Given the description of an element on the screen output the (x, y) to click on. 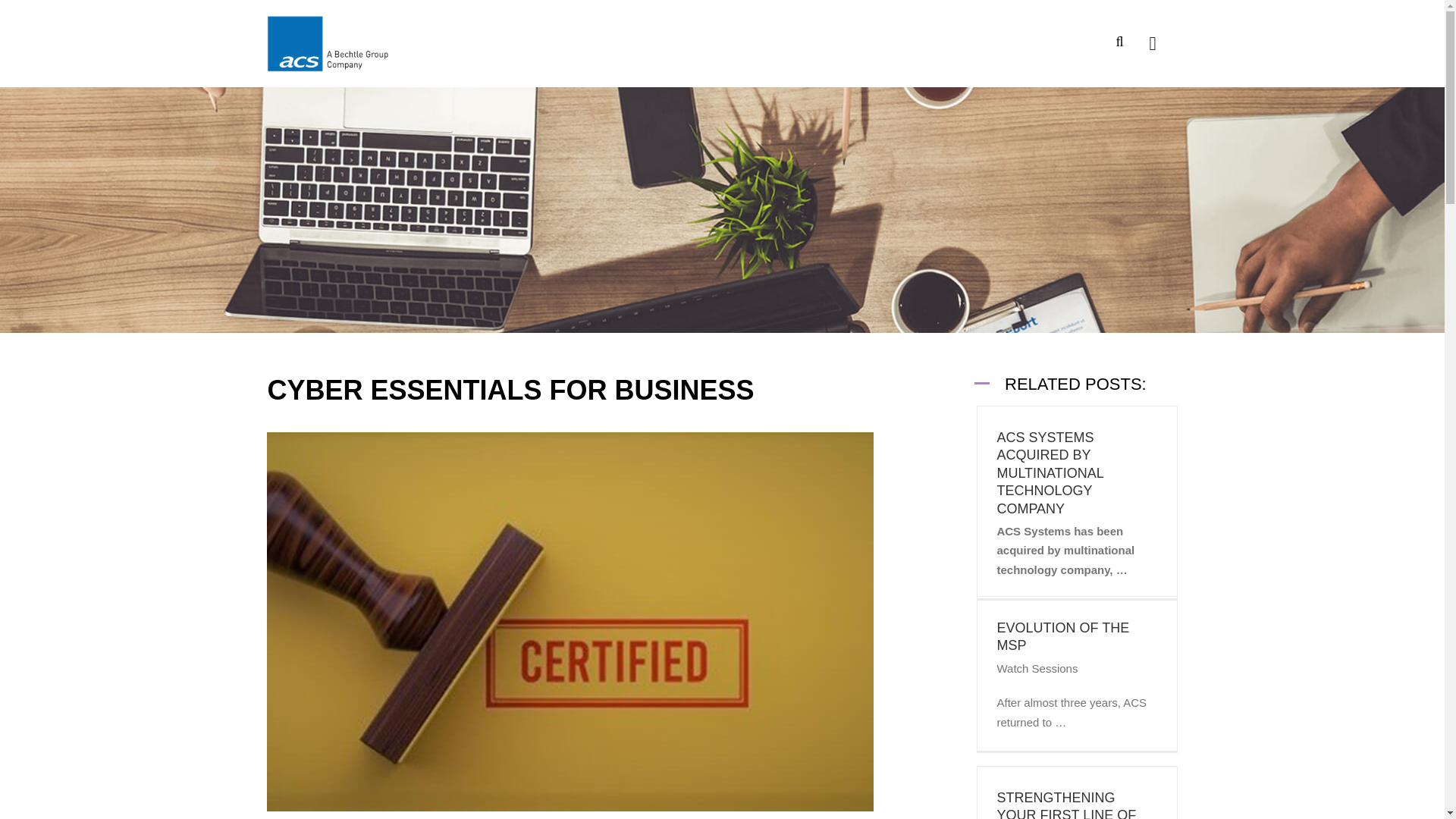
EVOLUTION OF THE MSP (1062, 635)
STRENGTHENING YOUR FIRST LINE OF DEFENCE (1065, 804)
ACS SYSTEMS ACQUIRED BY MULTINATIONAL TECHNOLOGY COMPANY (1049, 472)
